Given the description of an element on the screen output the (x, y) to click on. 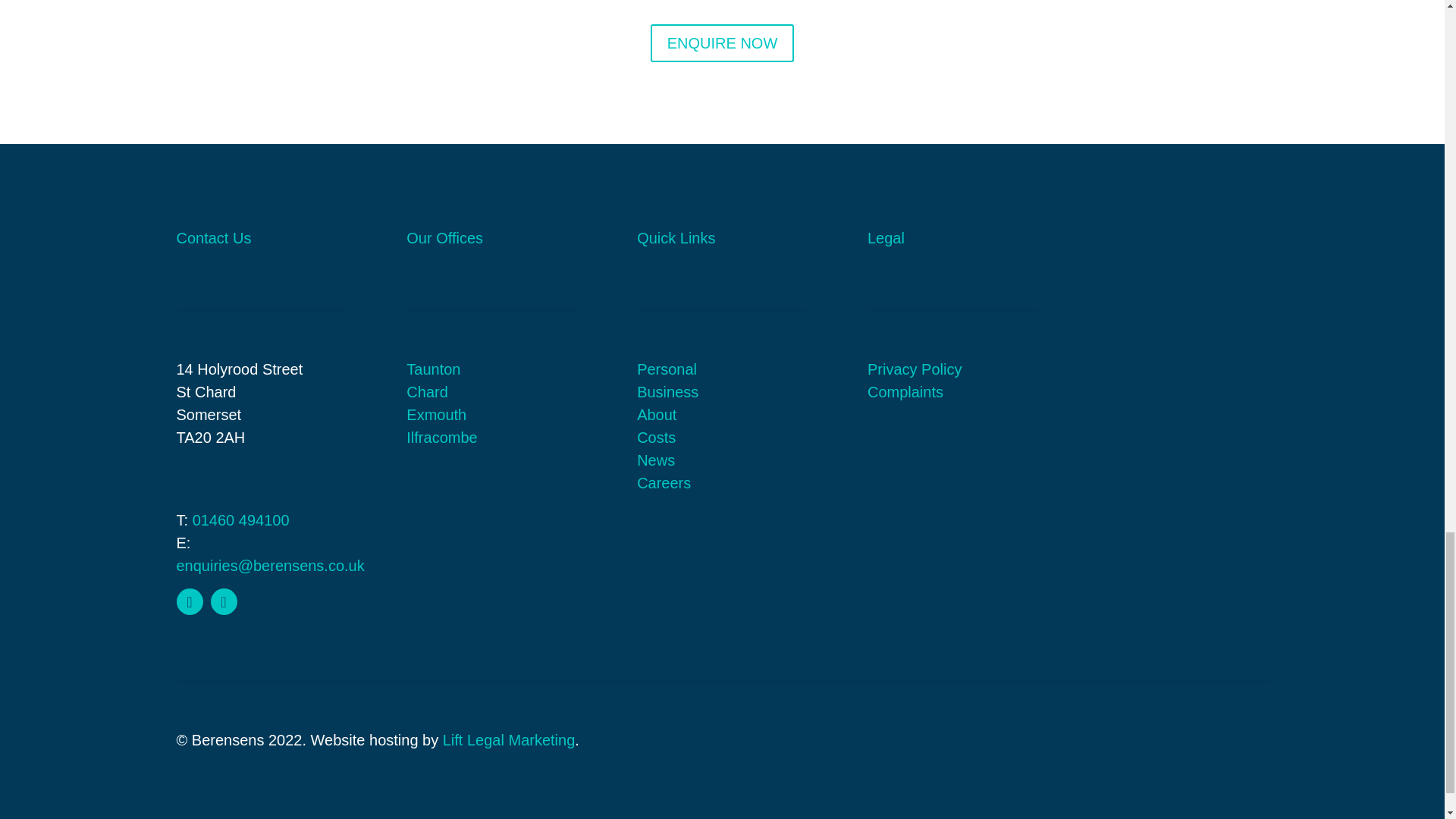
Lift Legal Marketing (508, 740)
01460 494100 (240, 519)
Chard (426, 392)
Personal (667, 369)
Exmouth (435, 414)
Business (667, 392)
Complaints (905, 392)
ENQUIRE NOW (722, 43)
Ilfracombe (441, 437)
About (657, 414)
